Given the description of an element on the screen output the (x, y) to click on. 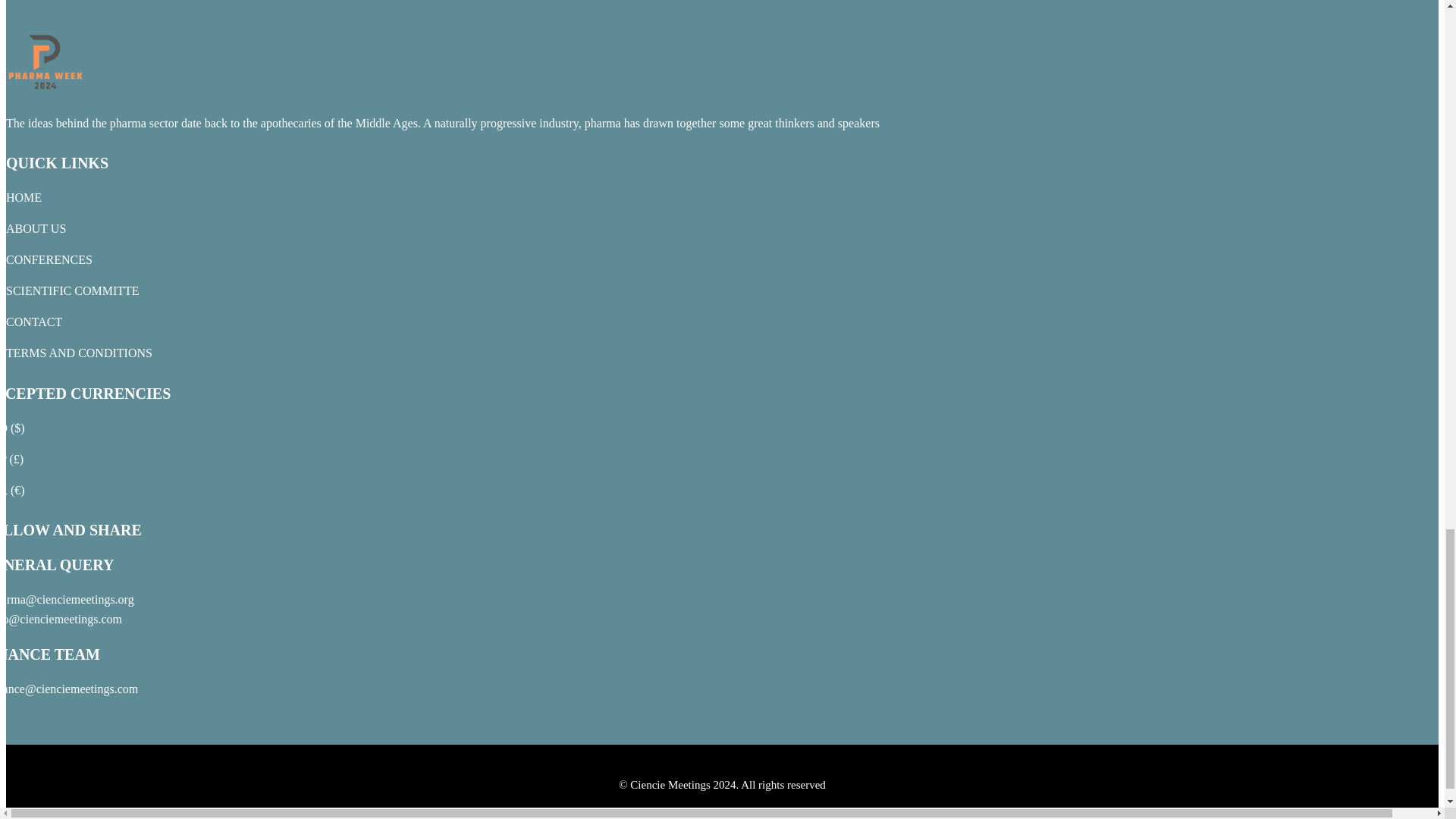
TERMS AND CONDITIONS (78, 352)
CONTACT (33, 321)
ABOUT US (35, 228)
CONFERENCES (49, 259)
HOME (23, 196)
SCIENTIFIC COMMITTE (72, 290)
